Given the description of an element on the screen output the (x, y) to click on. 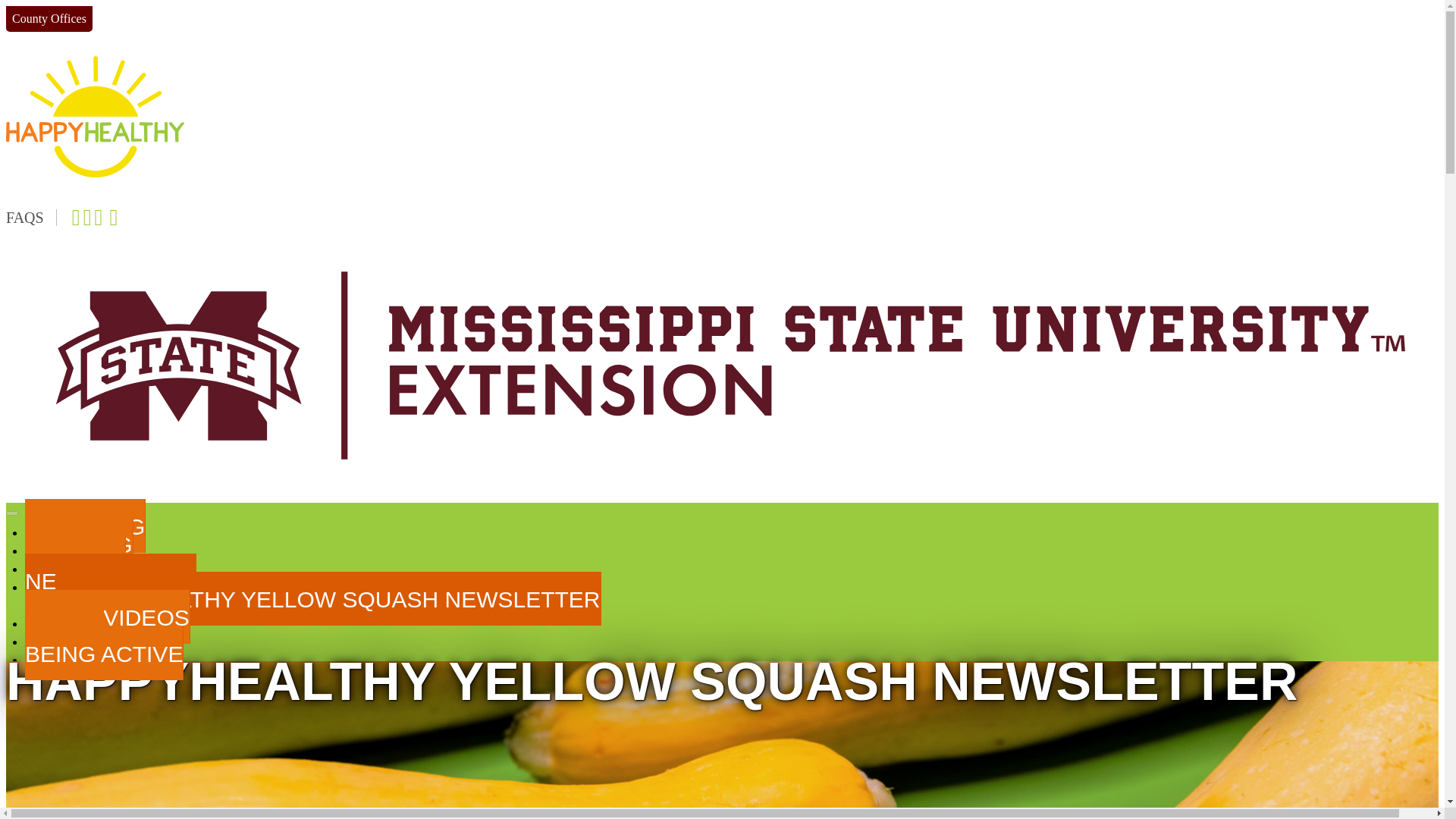
COOKING (78, 543)
BEING ACTIVE (103, 653)
FAMILY (63, 634)
County Offices (49, 18)
HAPPYHEALTHY YELLOW SQUASH NEWSLETTER (328, 598)
RECIPES (74, 561)
FAQS (30, 217)
SHOPPING (84, 525)
NEWSLETTERS (110, 580)
Toggle navigation (11, 513)
